Given the description of an element on the screen output the (x, y) to click on. 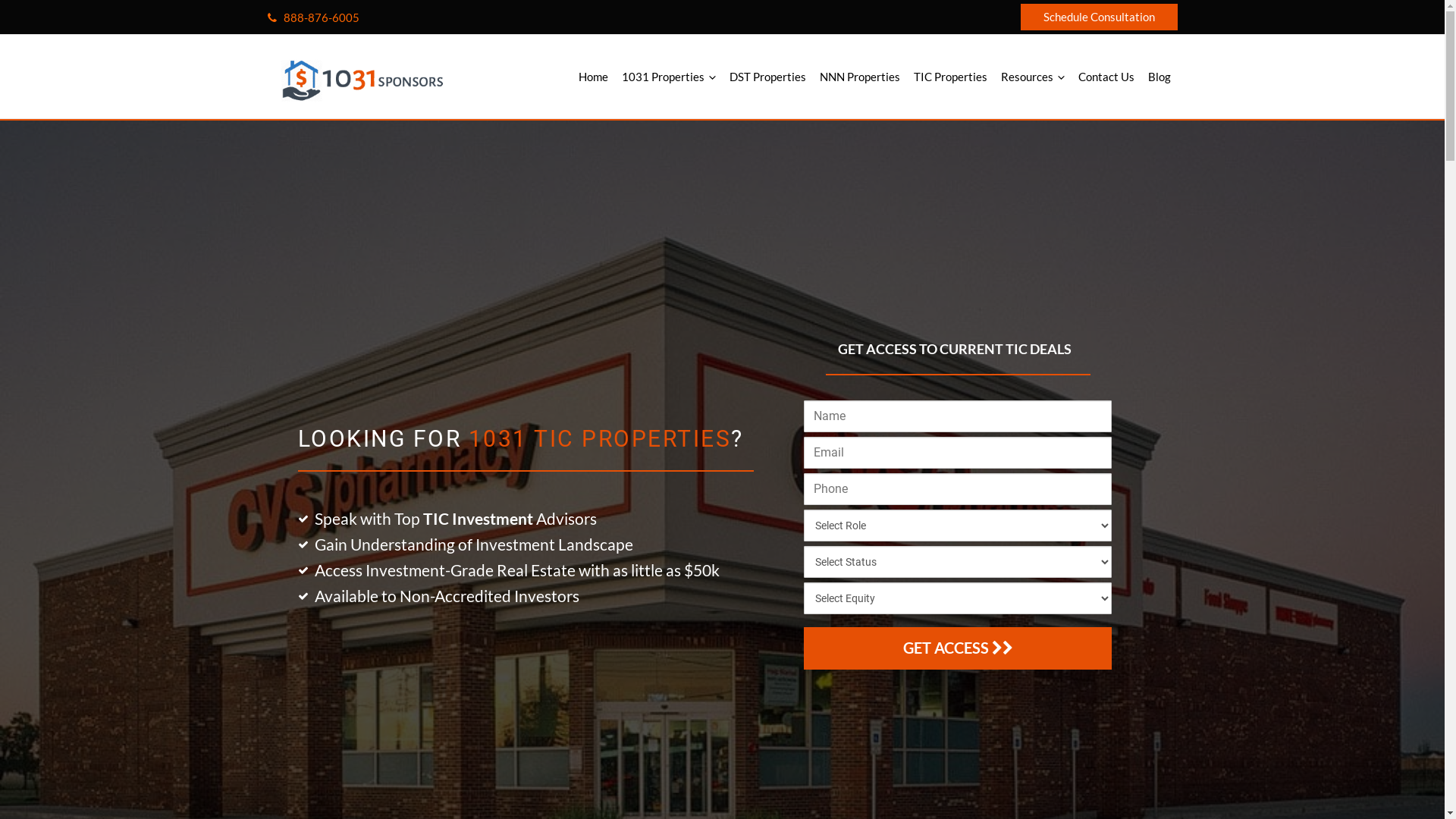
Blog Element type: text (1158, 76)
Schedule Consultation Element type: text (1098, 16)
1031 Properties Element type: text (667, 76)
Resources Element type: text (1031, 76)
GET ACCESS Element type: text (957, 648)
Contact Us Element type: text (1105, 76)
888-876-6005 Element type: text (312, 17)
DST Properties Element type: text (766, 76)
NNN Properties Element type: text (859, 76)
TIC Properties Element type: text (950, 76)
Home Element type: text (593, 76)
